Given the description of an element on the screen output the (x, y) to click on. 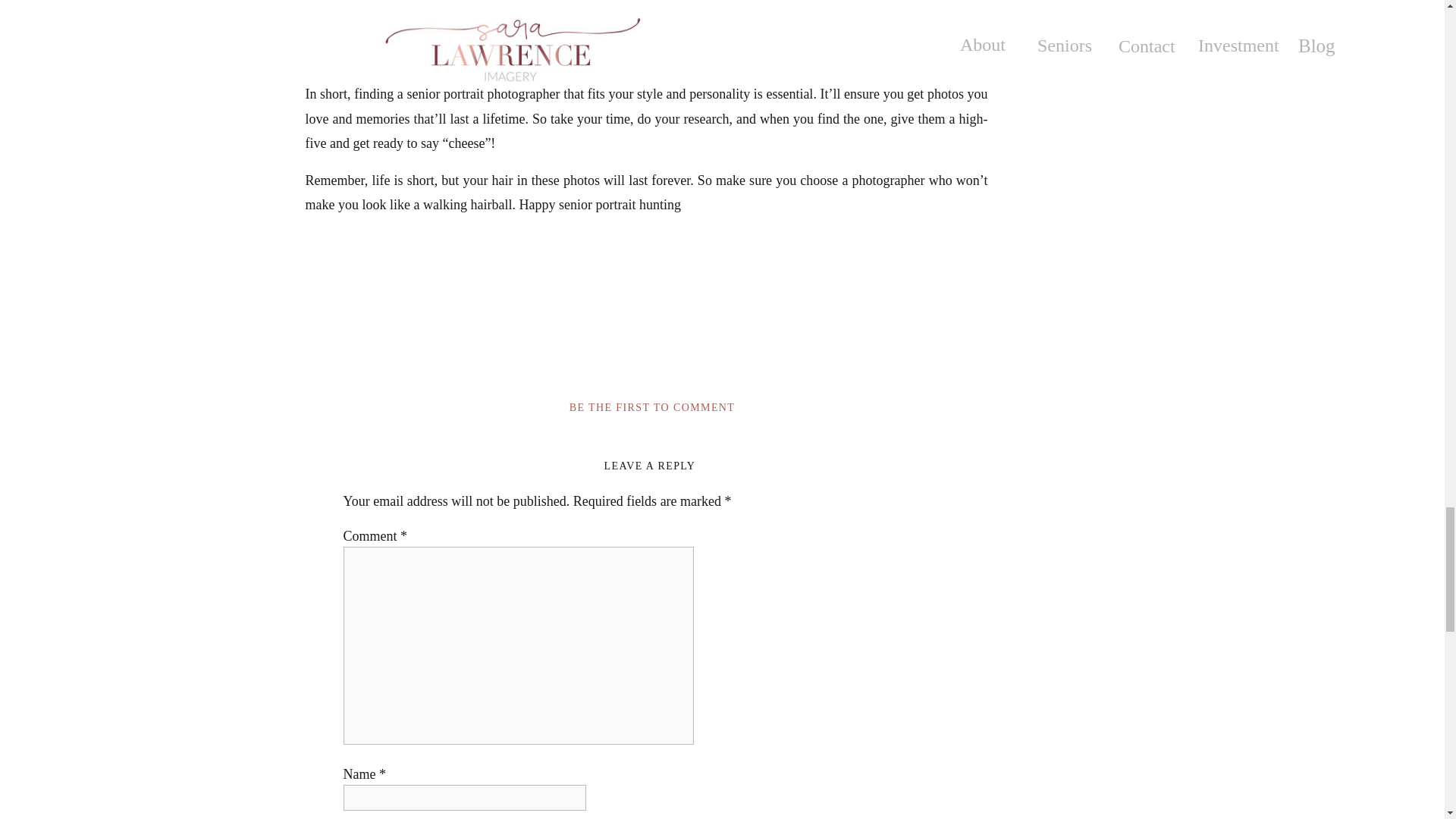
BE THE FIRST TO COMMENT (652, 407)
